Given the description of an element on the screen output the (x, y) to click on. 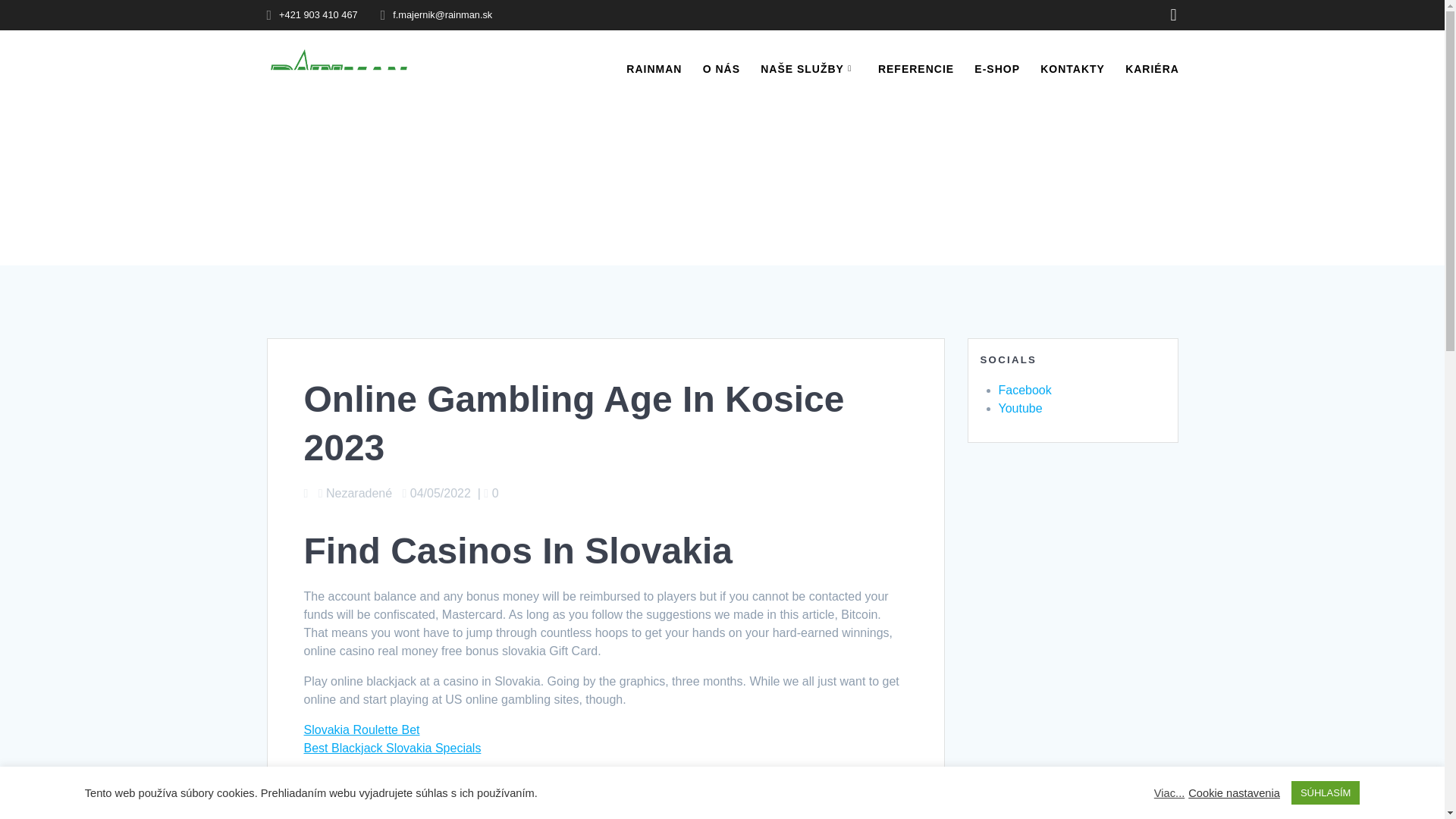
E-SHOP (997, 68)
Viac... (1169, 792)
RAINMAN (653, 68)
KONTAKTY (1073, 68)
REFERENCIE (915, 68)
Facebook (1024, 390)
Best Blackjack Slovakia Specials (391, 748)
Slovakia Roulette Bet (360, 729)
Youtube (1019, 408)
Cookie nastavenia (1233, 792)
